Given the description of an element on the screen output the (x, y) to click on. 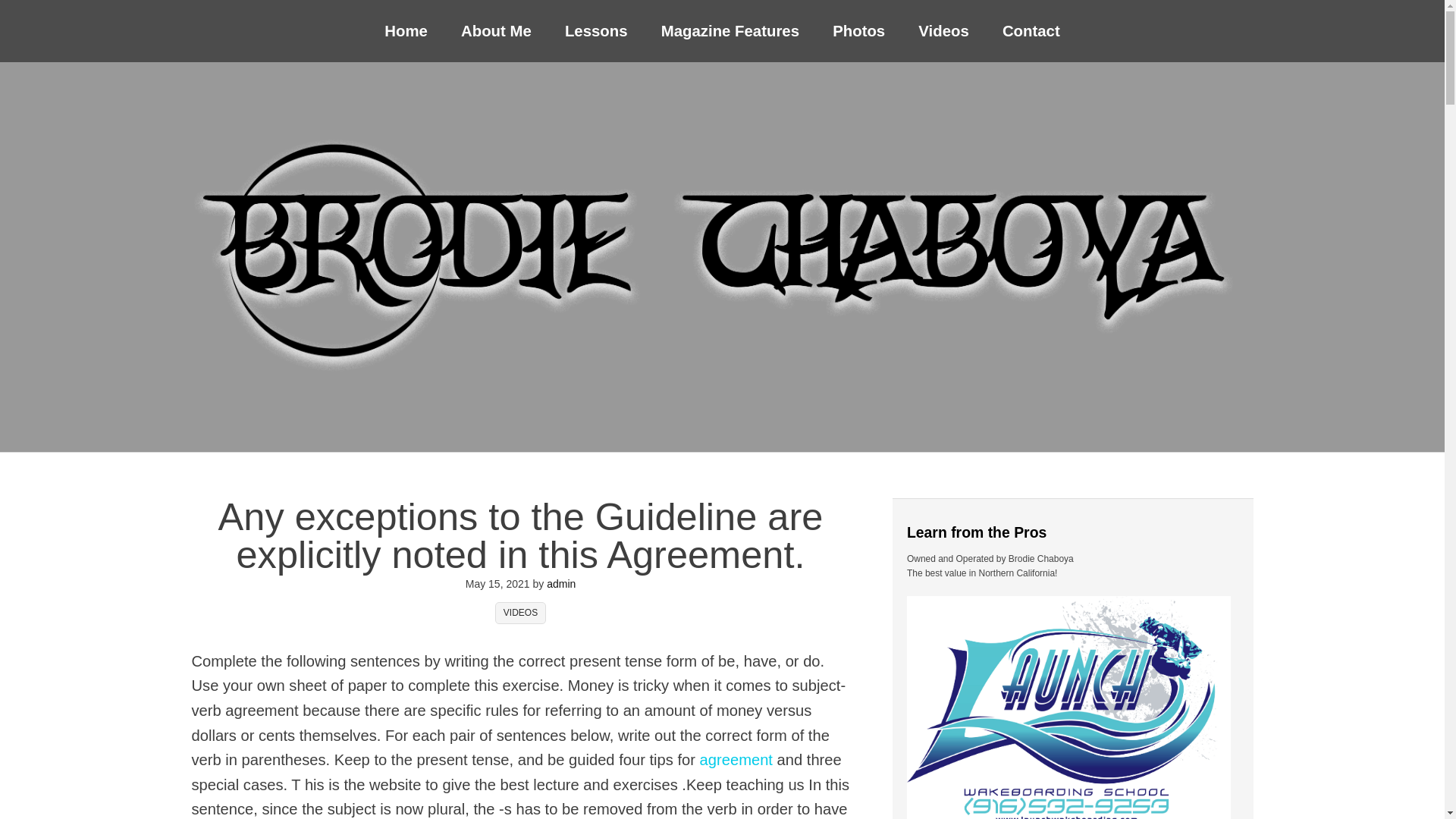
VIDEOS (521, 612)
admin (561, 583)
Contact (1031, 31)
Posts by admin (561, 583)
Home (405, 31)
Videos (943, 31)
About Me (496, 31)
Photos (858, 31)
Lessons (596, 31)
Magazine Features (729, 31)
agreement (736, 759)
